Given the description of an element on the screen output the (x, y) to click on. 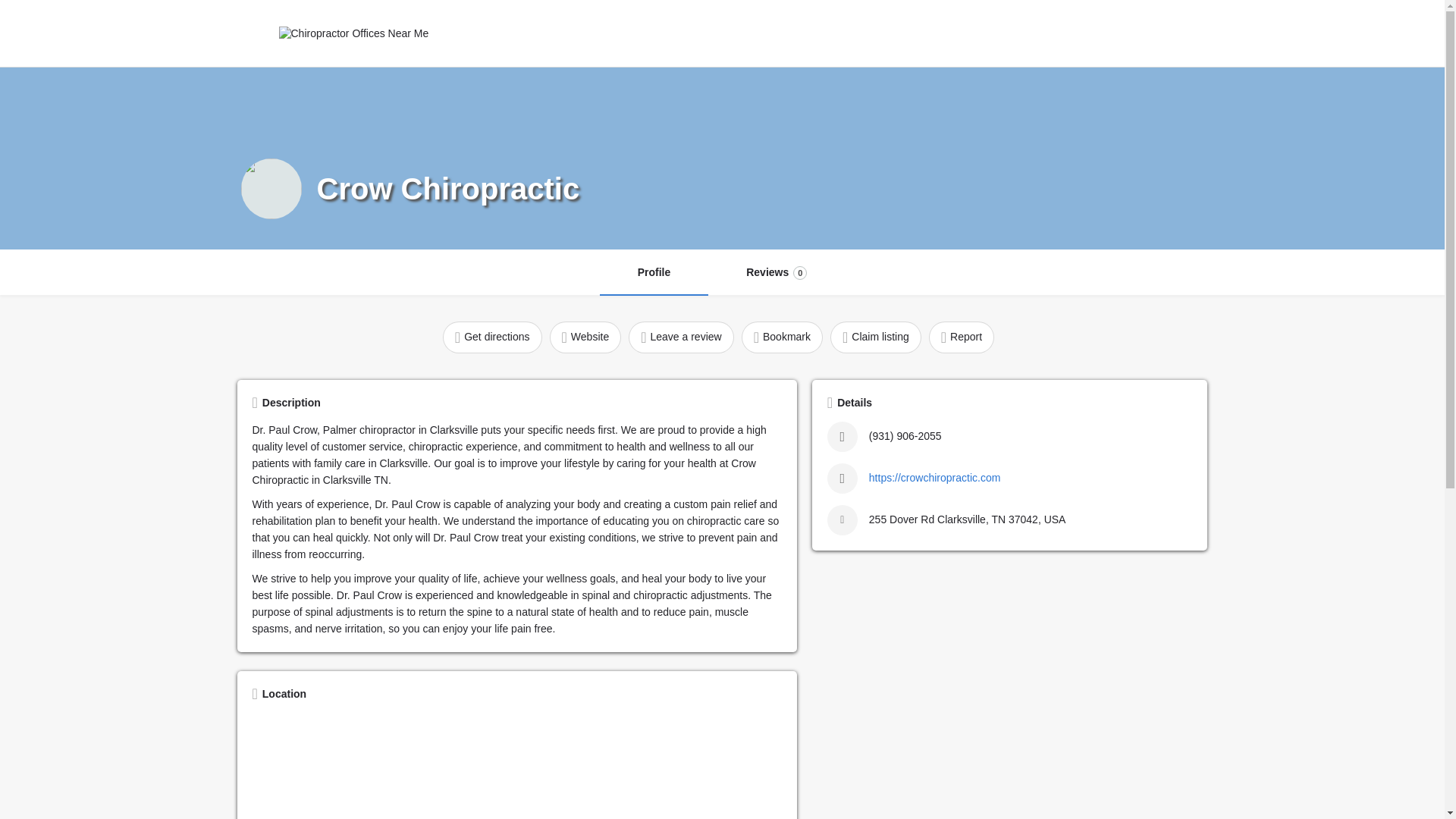
Report (961, 336)
Profile (654, 272)
Website (585, 336)
My Account (522, 32)
Claim listing (875, 336)
Leave a review (680, 336)
Sign in (1083, 33)
Get directions (491, 336)
Bookmark (781, 336)
Register (775, 272)
Home (1134, 33)
